Given the description of an element on the screen output the (x, y) to click on. 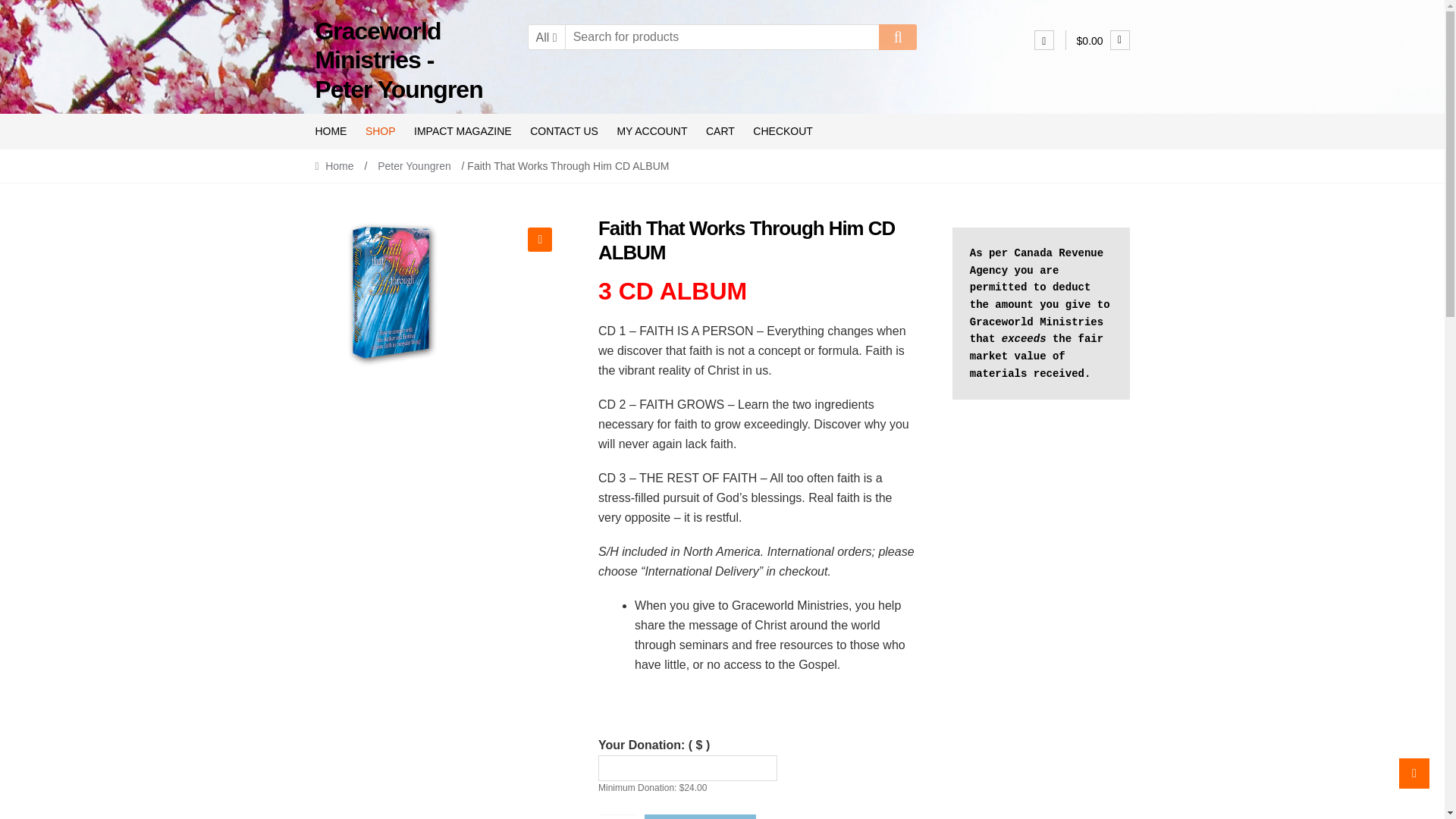
ADD TO CART (701, 816)
View your shopping cart (1103, 41)
Peter Youngren (413, 165)
HOME (334, 131)
Home (337, 165)
IMPACT MAGAZINE (462, 131)
SHOP (380, 131)
CONTACT US (564, 131)
Faith That Works Through Him (389, 292)
1 (617, 816)
Graceworld Ministries - Peter Youngren (397, 60)
Qty (617, 816)
CHECKOUT (783, 131)
CART (720, 131)
MY ACCOUNT (652, 131)
